Given the description of an element on the screen output the (x, y) to click on. 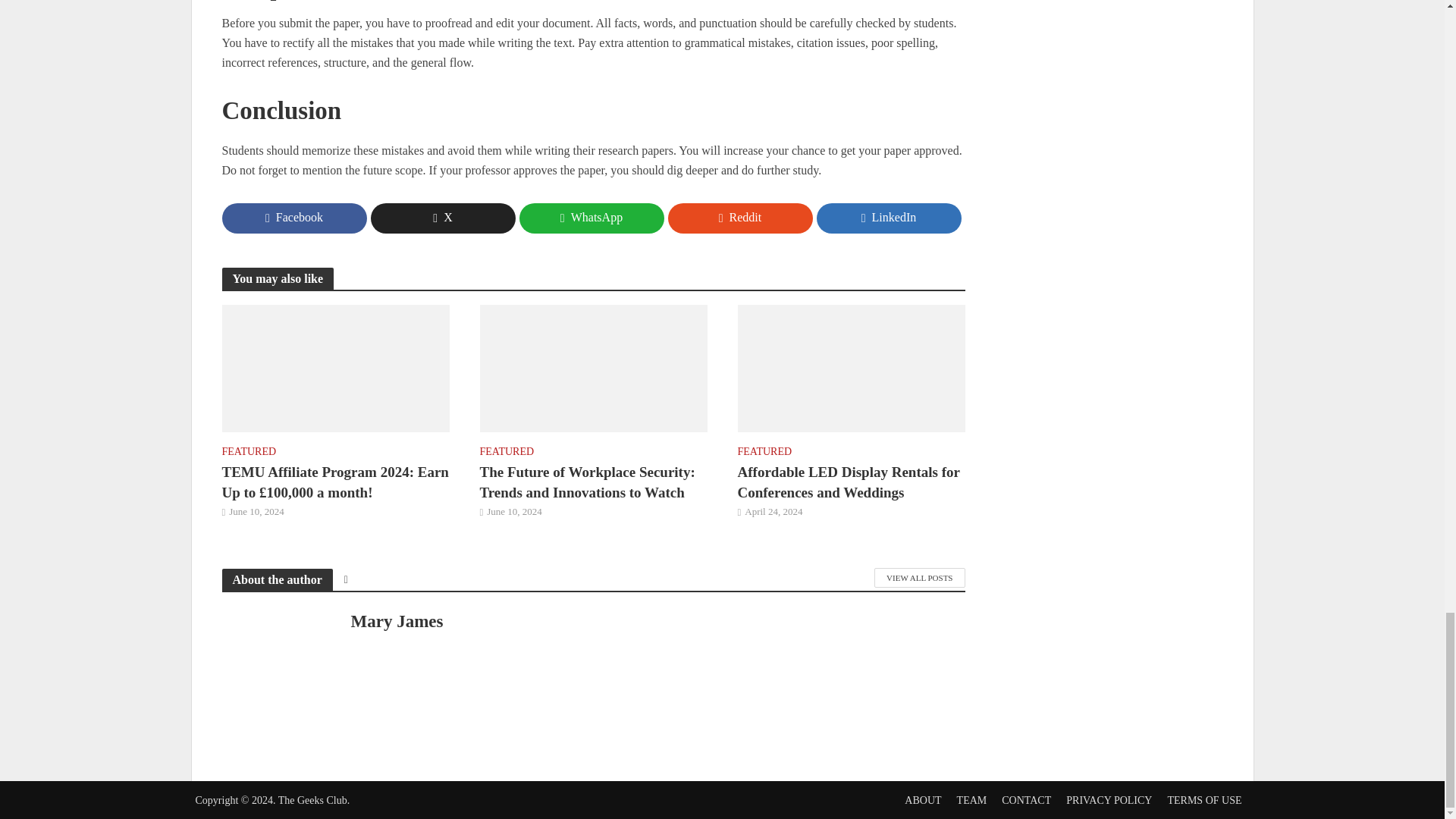
Affordable LED Display Rentals for Conferences and Weddings (849, 367)
